Given the description of an element on the screen output the (x, y) to click on. 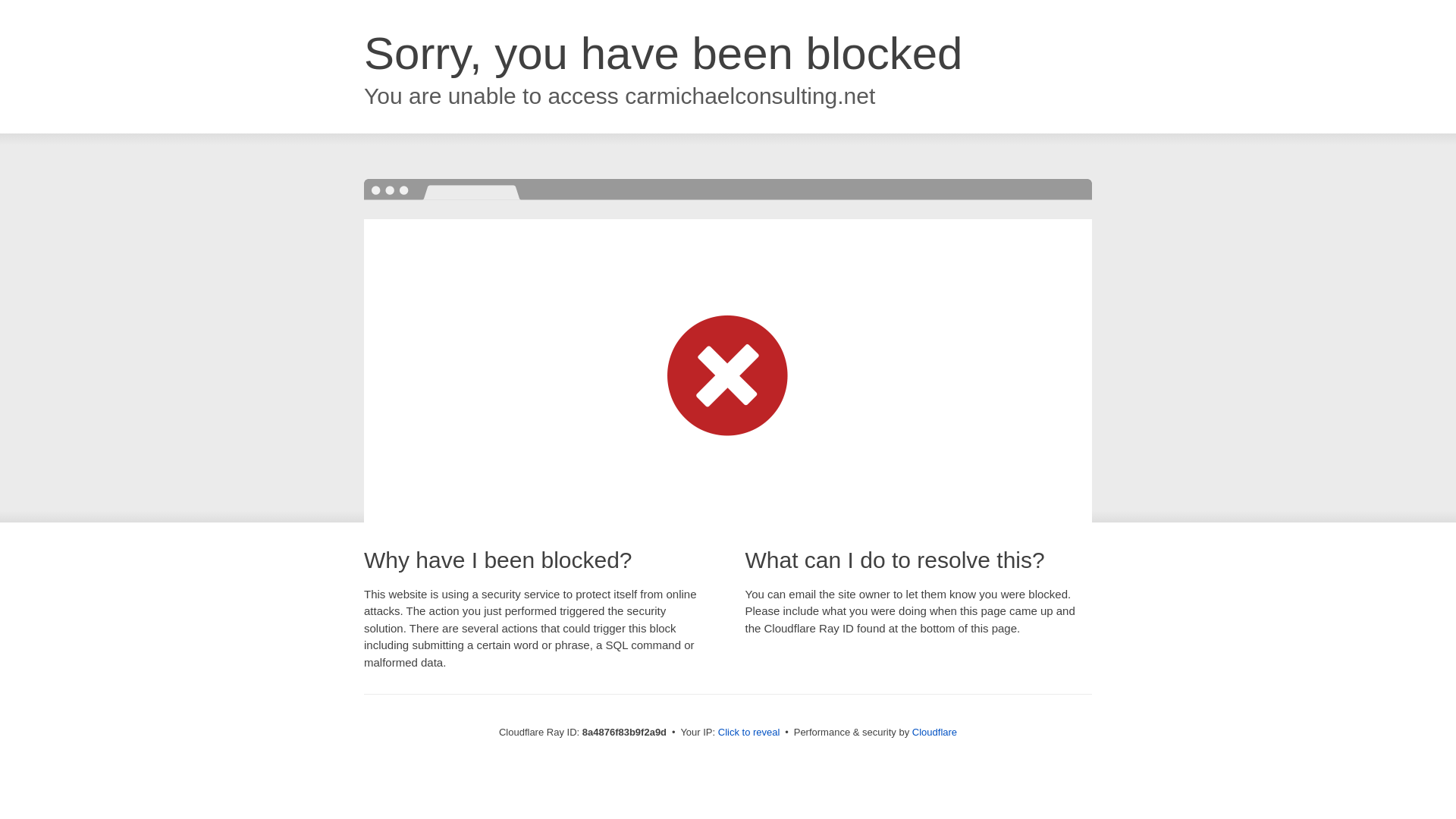
Click to reveal (748, 732)
Cloudflare (934, 731)
